Given the description of an element on the screen output the (x, y) to click on. 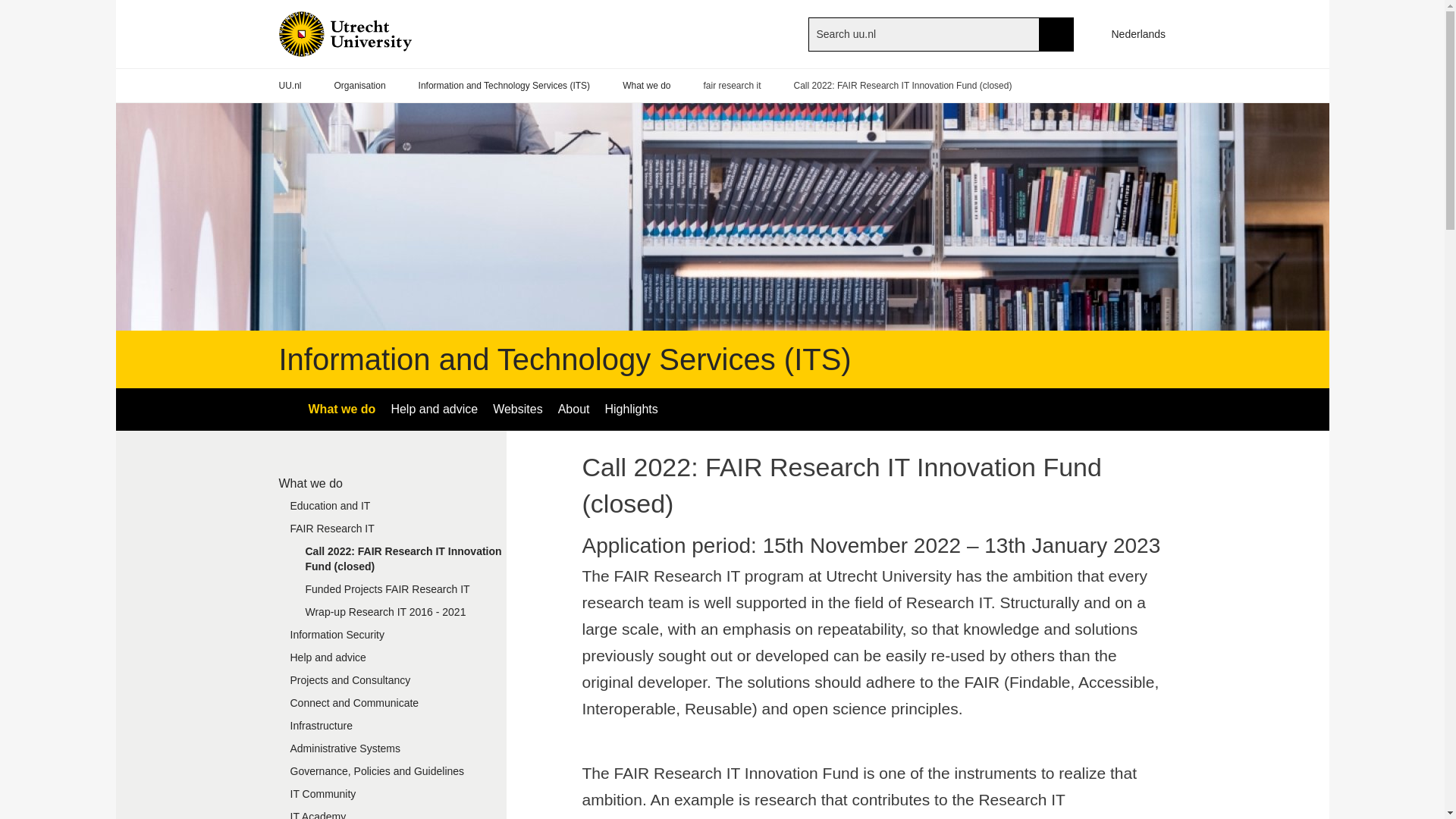
What we do (392, 482)
Skip to main content (7, 7)
Help and advice (392, 661)
Education and IT (392, 508)
Organisation (359, 85)
Projects and Consultancy (392, 683)
Home (370, 33)
IT Community (392, 797)
SEARCH (1056, 33)
IT Academy (392, 814)
What we do (646, 85)
Wrap-up Research IT 2016 - 2021 (400, 615)
Nederlands (1131, 33)
Highlights (630, 409)
